Given the description of an element on the screen output the (x, y) to click on. 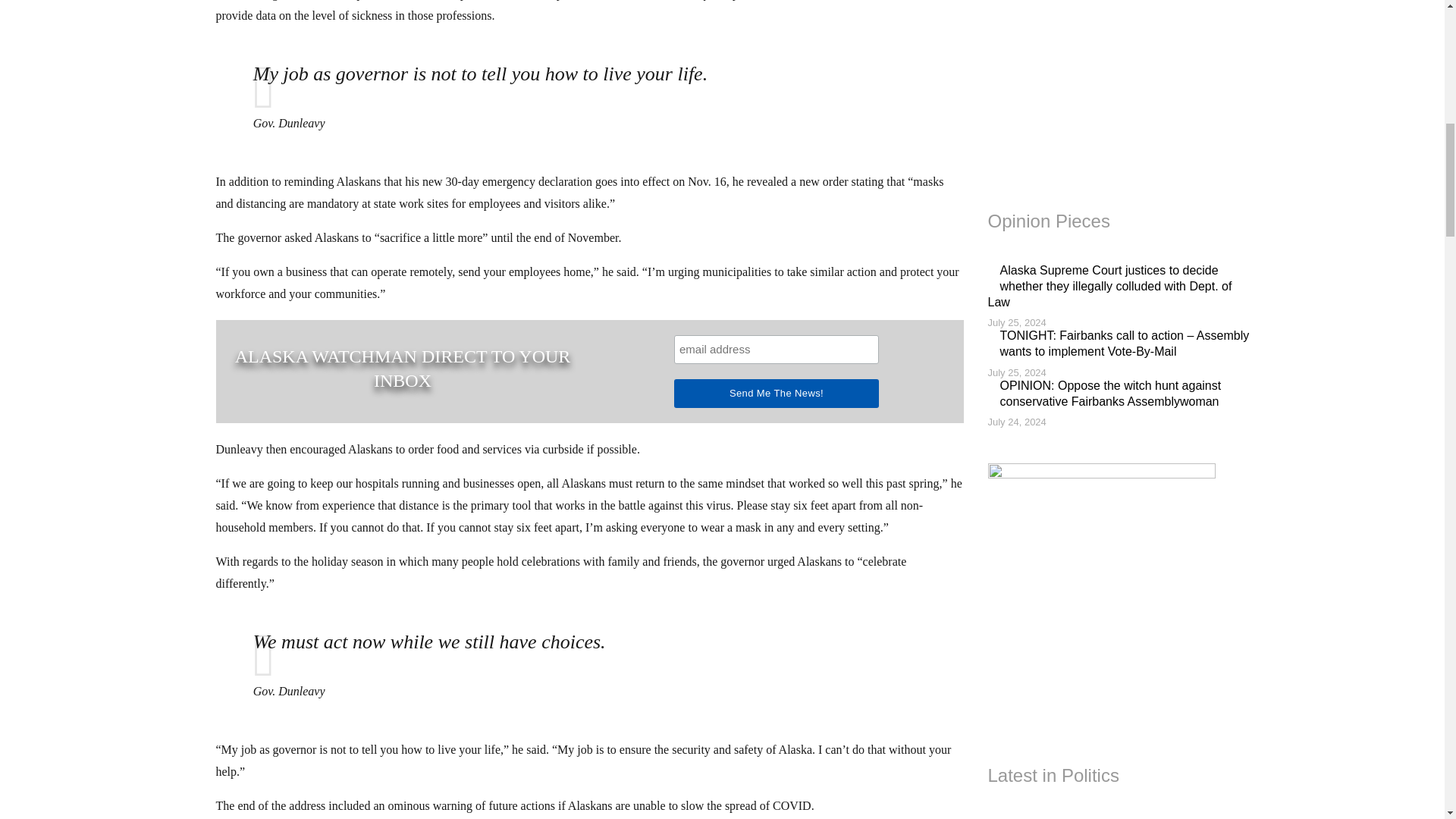
Send Me The News! (776, 393)
